Given the description of an element on the screen output the (x, y) to click on. 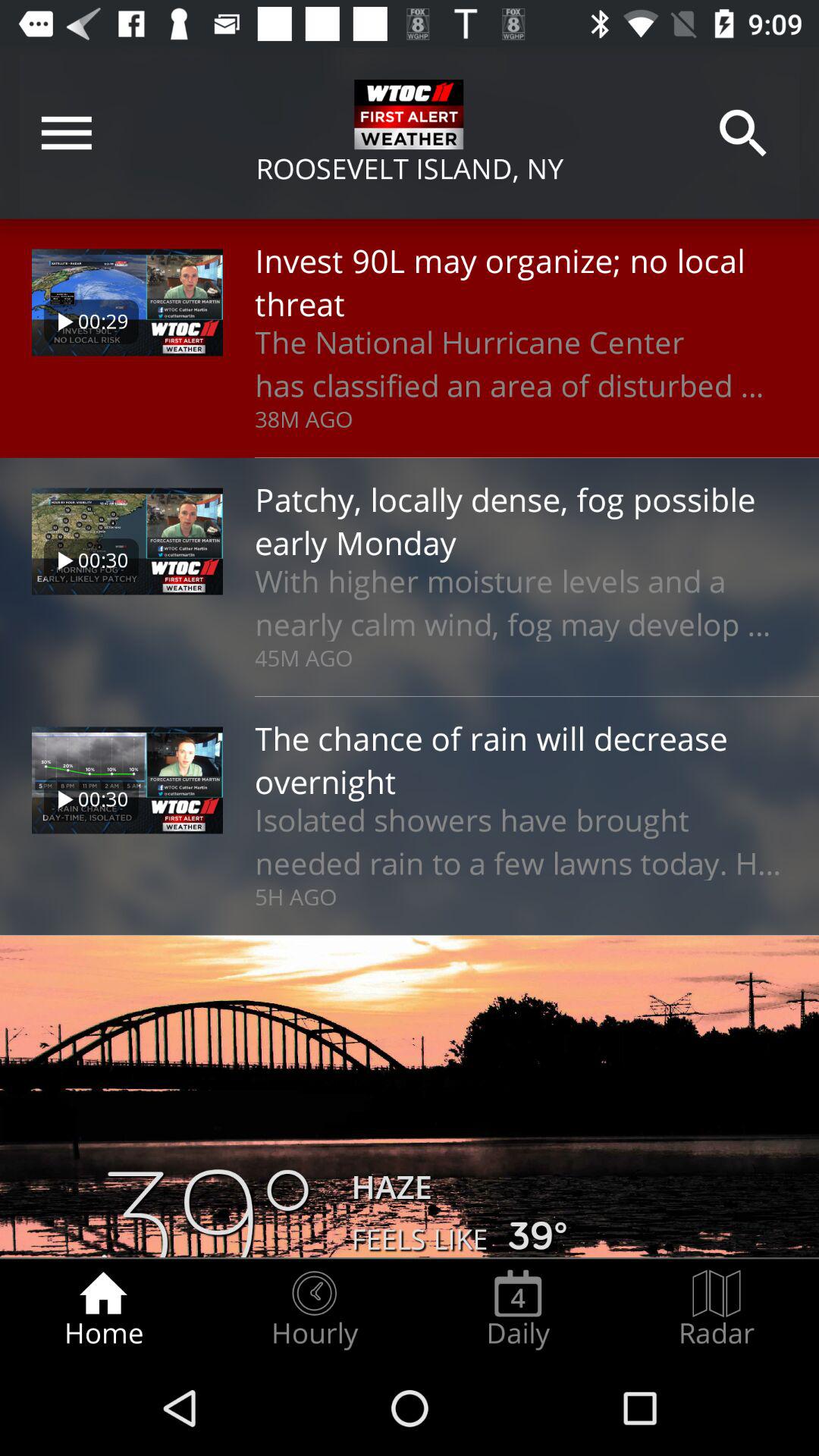
choose the icon next to hourly item (103, 1309)
